Given the description of an element on the screen output the (x, y) to click on. 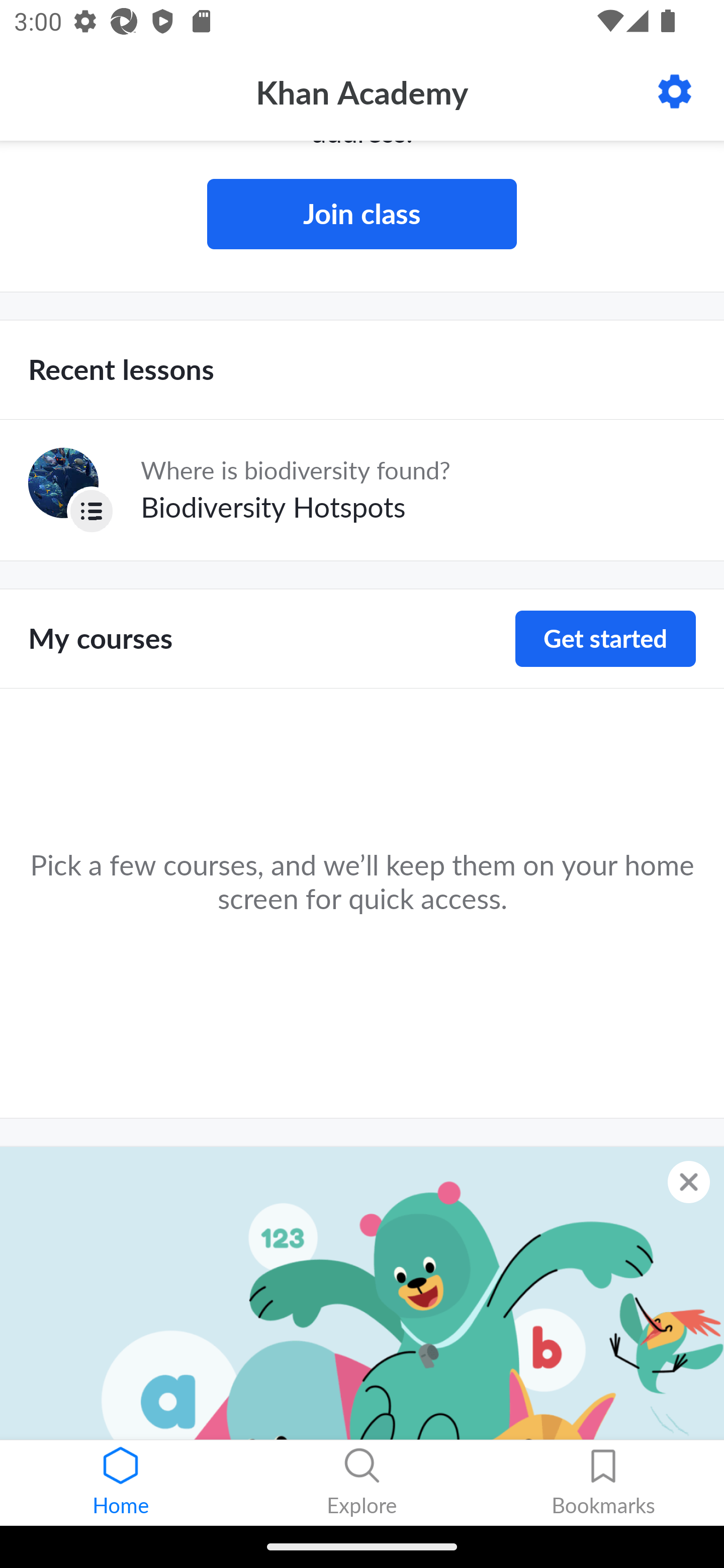
Settings (674, 91)
Join class (361, 213)
Get started (605, 637)
Dismiss (688, 1181)
Home (120, 1482)
Explore (361, 1482)
Bookmarks (603, 1482)
